Given the description of an element on the screen output the (x, y) to click on. 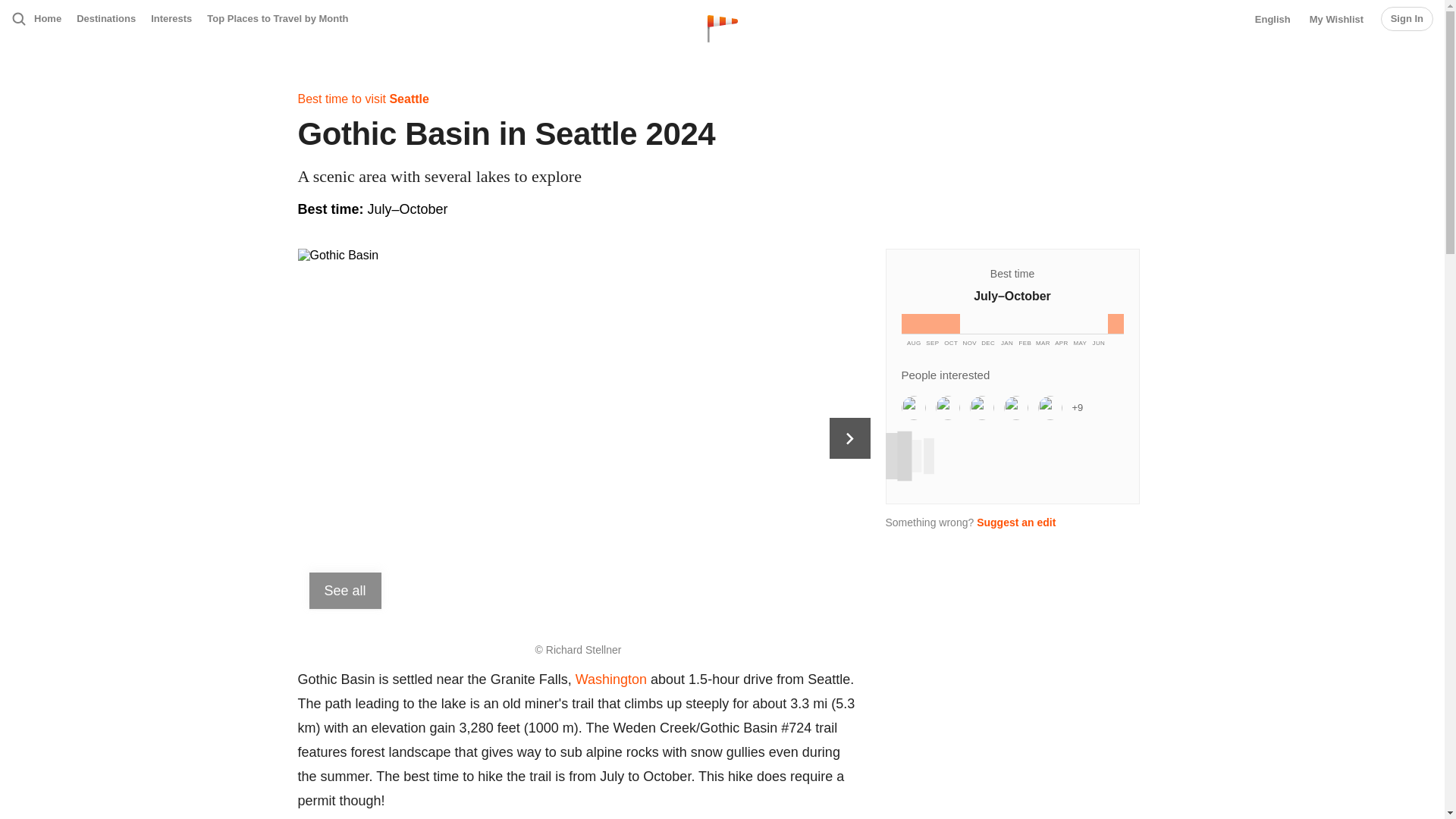
Best time to visit Seattle (362, 98)
Destinations (106, 18)
Top Places to Travel by Month (276, 18)
Washington (610, 679)
Interests (171, 18)
Suggest an edit (1015, 522)
See all (344, 590)
Sign In (1406, 18)
My Wishlist (1335, 19)
